Given the description of an element on the screen output the (x, y) to click on. 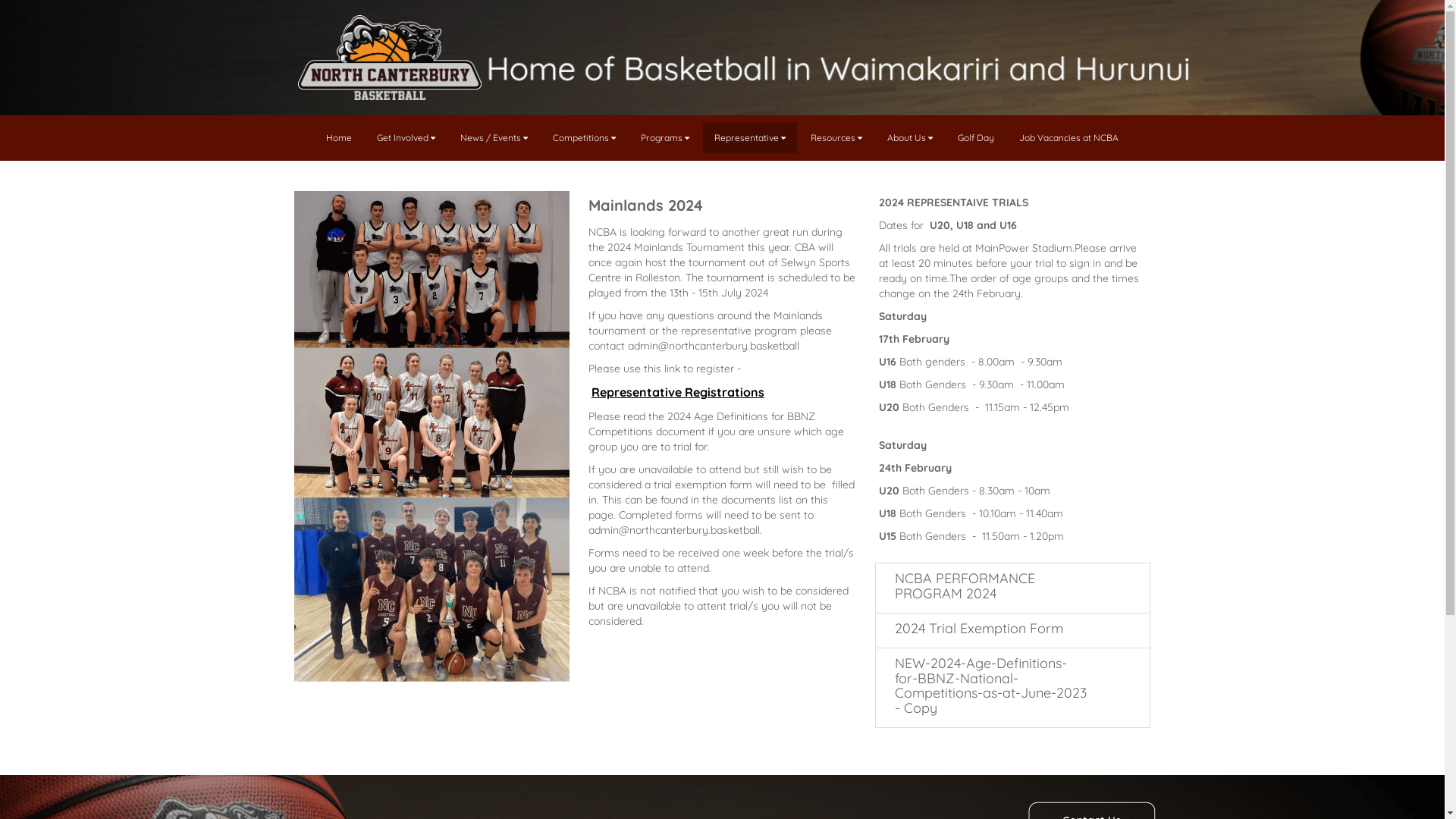
Job Vacancies at NCBA Element type: text (1068, 137)
NCBA PERFORMANCE PROGRAM 2024 Element type: text (1012, 587)
Home Element type: text (338, 137)
2024 Trial Exemption Form Element type: text (1012, 630)
News / Events Element type: text (493, 137)
Resources Element type: text (836, 137)
Competitions Element type: text (584, 137)
Representative Element type: text (749, 137)
Programs Element type: text (664, 137)
About Us Element type: text (909, 137)
Golf Day Element type: text (975, 137)
Get Involved Element type: text (405, 137)
Representative Registrations Element type: text (677, 392)
